Given the description of an element on the screen output the (x, y) to click on. 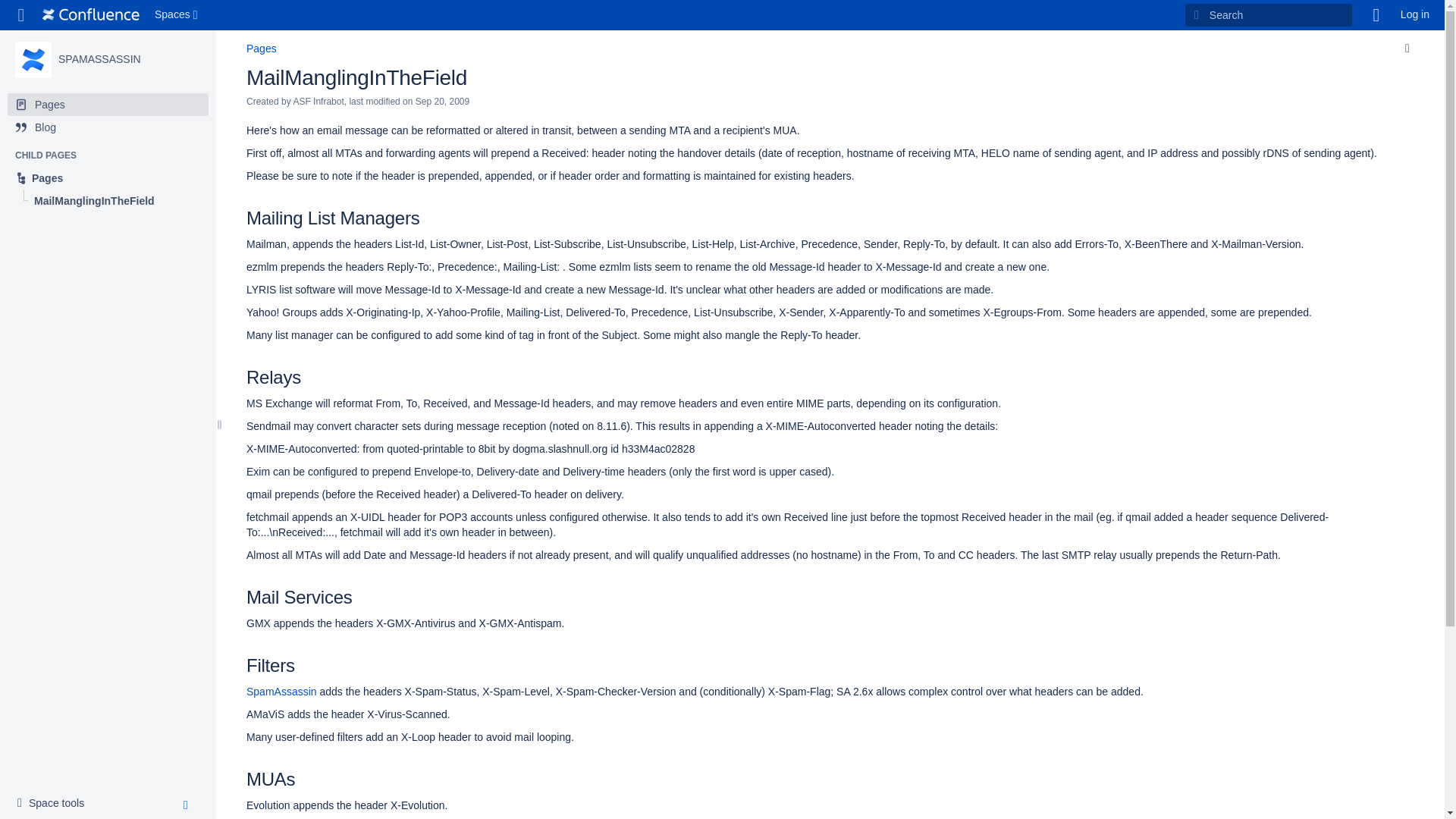
Spaces (177, 15)
Linked Applications (20, 15)
Pages (107, 104)
SPAMASSASSIN (99, 59)
SPAMASSASSIN (32, 59)
Spaces (177, 15)
Pages (107, 178)
Pages (261, 48)
Log in (1415, 15)
MailManglingInTheField (356, 77)
Apache Software Foundation (90, 15)
ASF Infrabot (54, 803)
SPAMASSASSIN (317, 101)
Pages (99, 59)
